Given the description of an element on the screen output the (x, y) to click on. 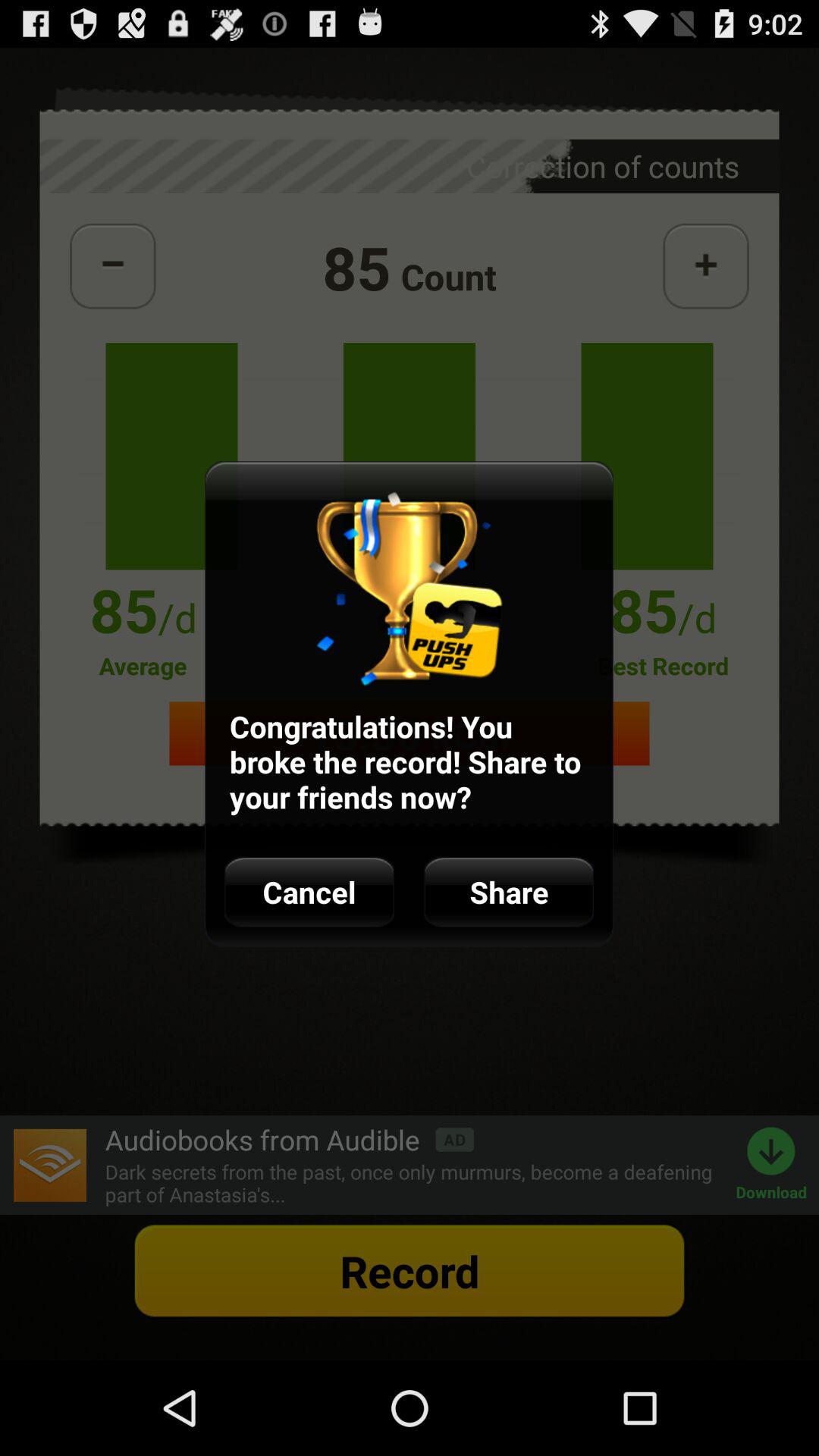
click the app below the congratulations you broke icon (309, 892)
